Given the description of an element on the screen output the (x, y) to click on. 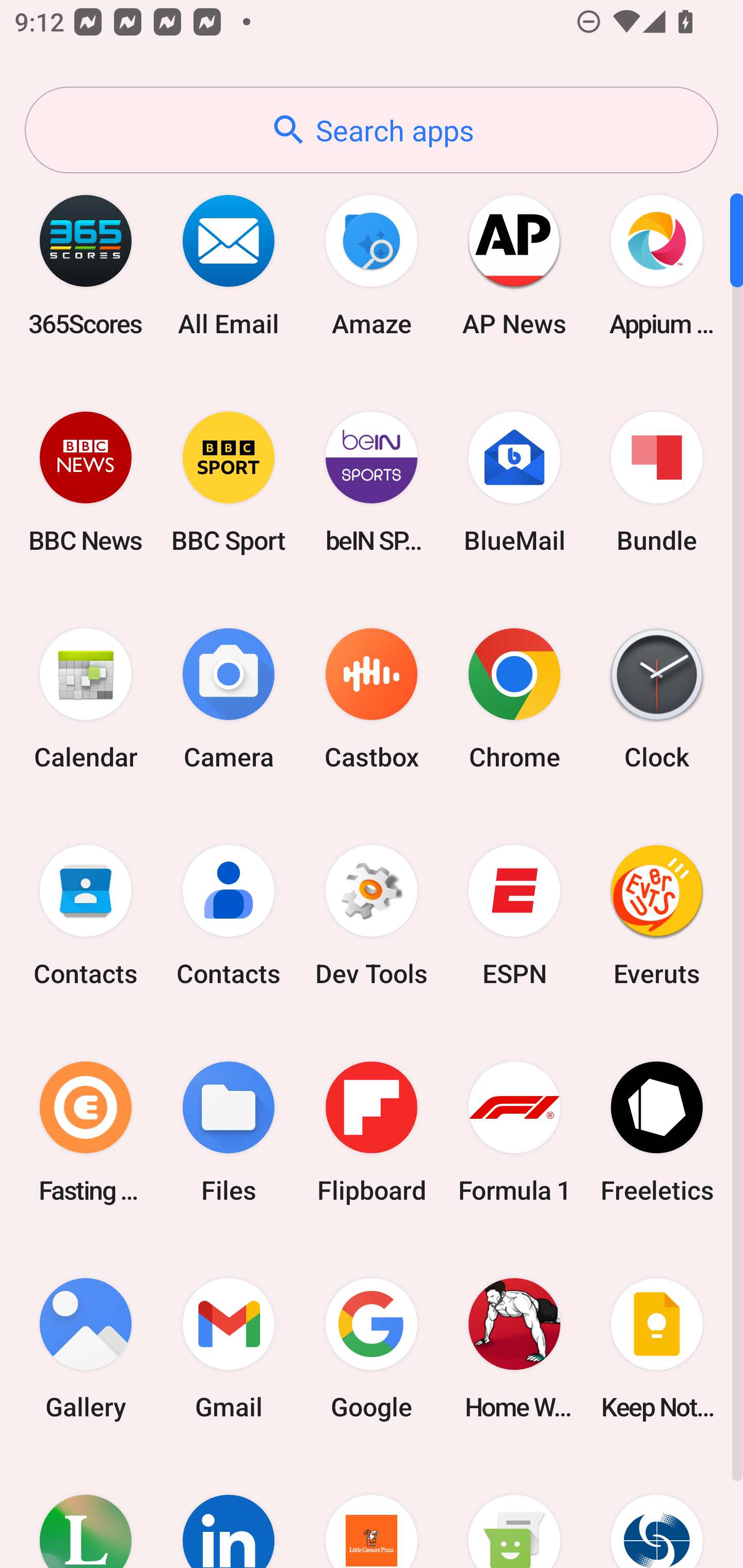
  Search apps (371, 130)
365Scores (85, 264)
All Email (228, 264)
Amaze (371, 264)
AP News (514, 264)
Appium Settings (656, 264)
BBC News (85, 482)
BBC Sport (228, 482)
beIN SPORTS (371, 482)
BlueMail (514, 482)
Bundle (656, 482)
Calendar (85, 699)
Camera (228, 699)
Castbox (371, 699)
Chrome (514, 699)
Clock (656, 699)
Contacts (85, 915)
Contacts (228, 915)
Dev Tools (371, 915)
ESPN (514, 915)
Everuts (656, 915)
Fasting Coach (85, 1131)
Files (228, 1131)
Flipboard (371, 1131)
Formula 1 (514, 1131)
Freeletics (656, 1131)
Gallery (85, 1348)
Gmail (228, 1348)
Google (371, 1348)
Home Workout (514, 1348)
Keep Notes (656, 1348)
